Given the description of an element on the screen output the (x, y) to click on. 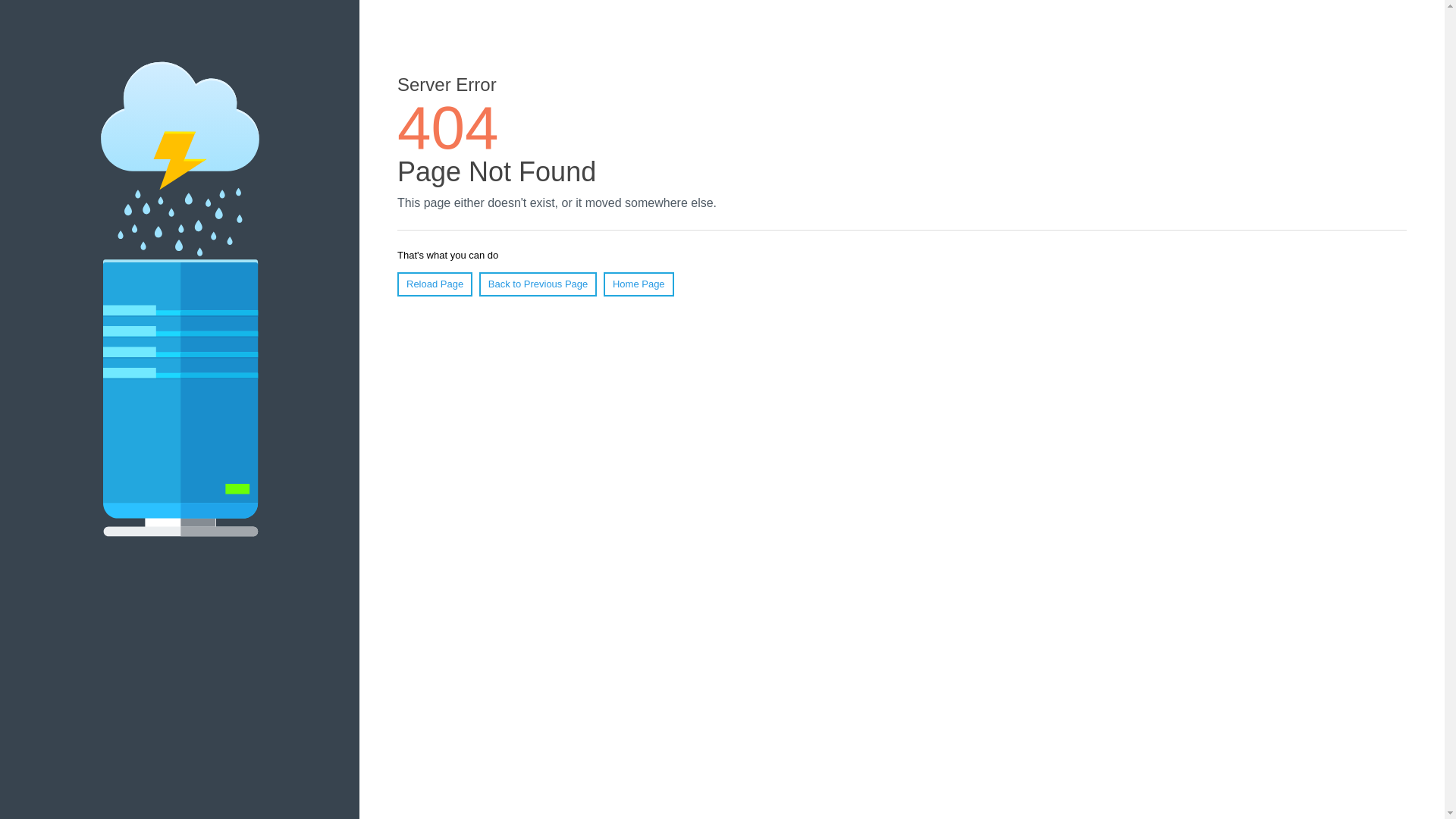
Reload Page Element type: text (434, 284)
Home Page Element type: text (638, 284)
Back to Previous Page Element type: text (538, 284)
